Given the description of an element on the screen output the (x, y) to click on. 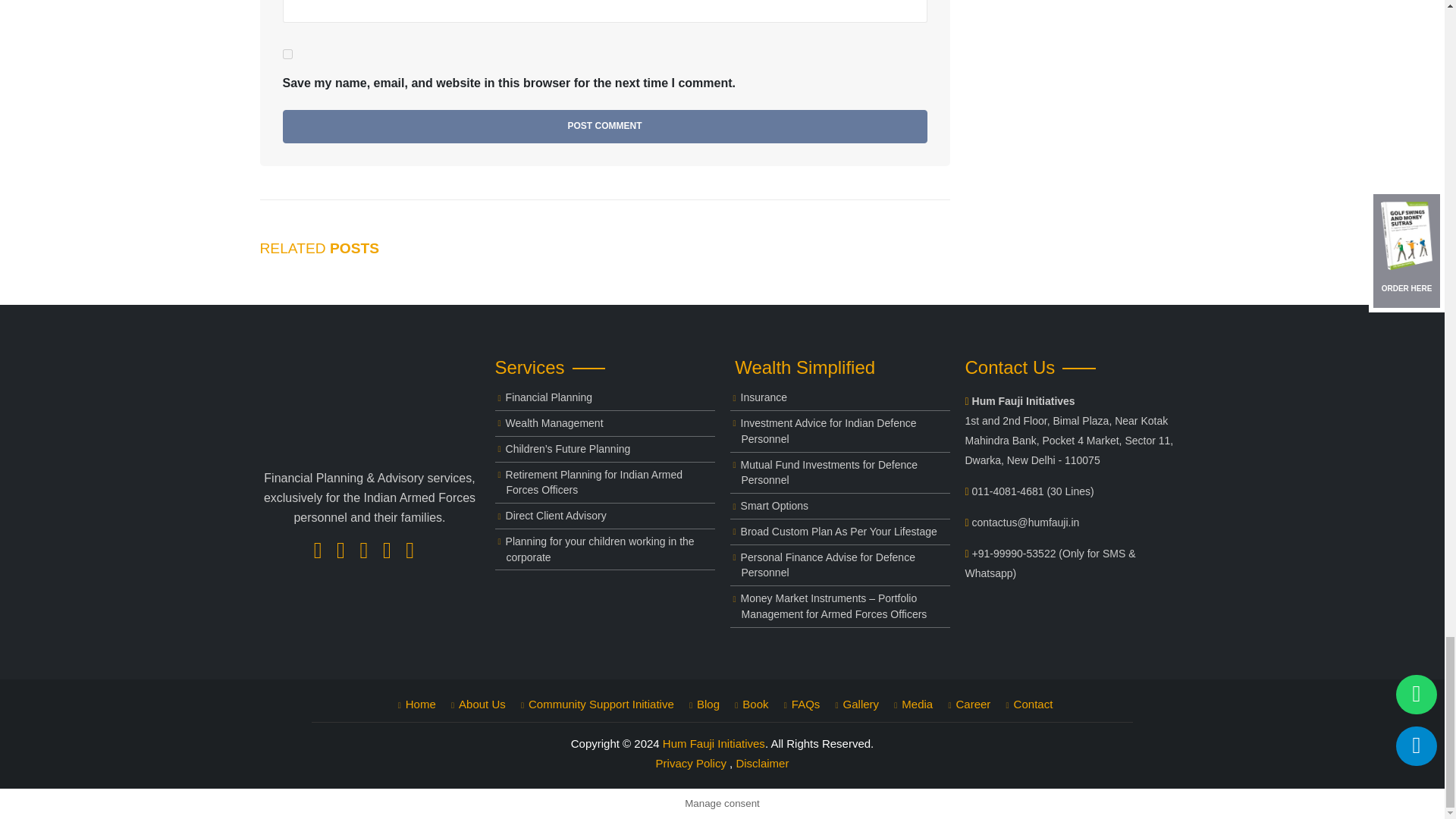
yes (287, 53)
Post Comment (604, 125)
